Given the description of an element on the screen output the (x, y) to click on. 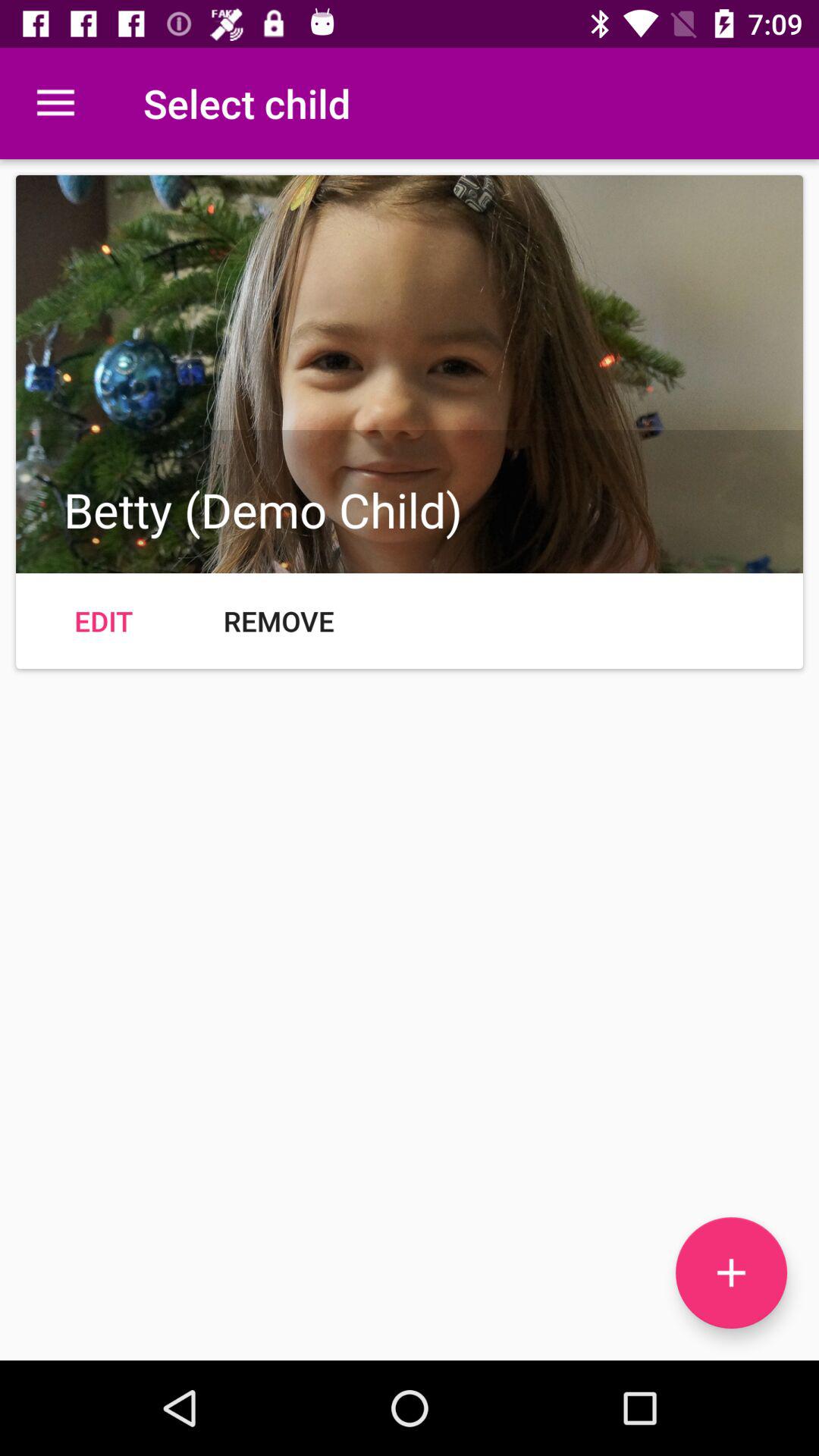
select the icon next to the edit icon (278, 620)
